Given the description of an element on the screen output the (x, y) to click on. 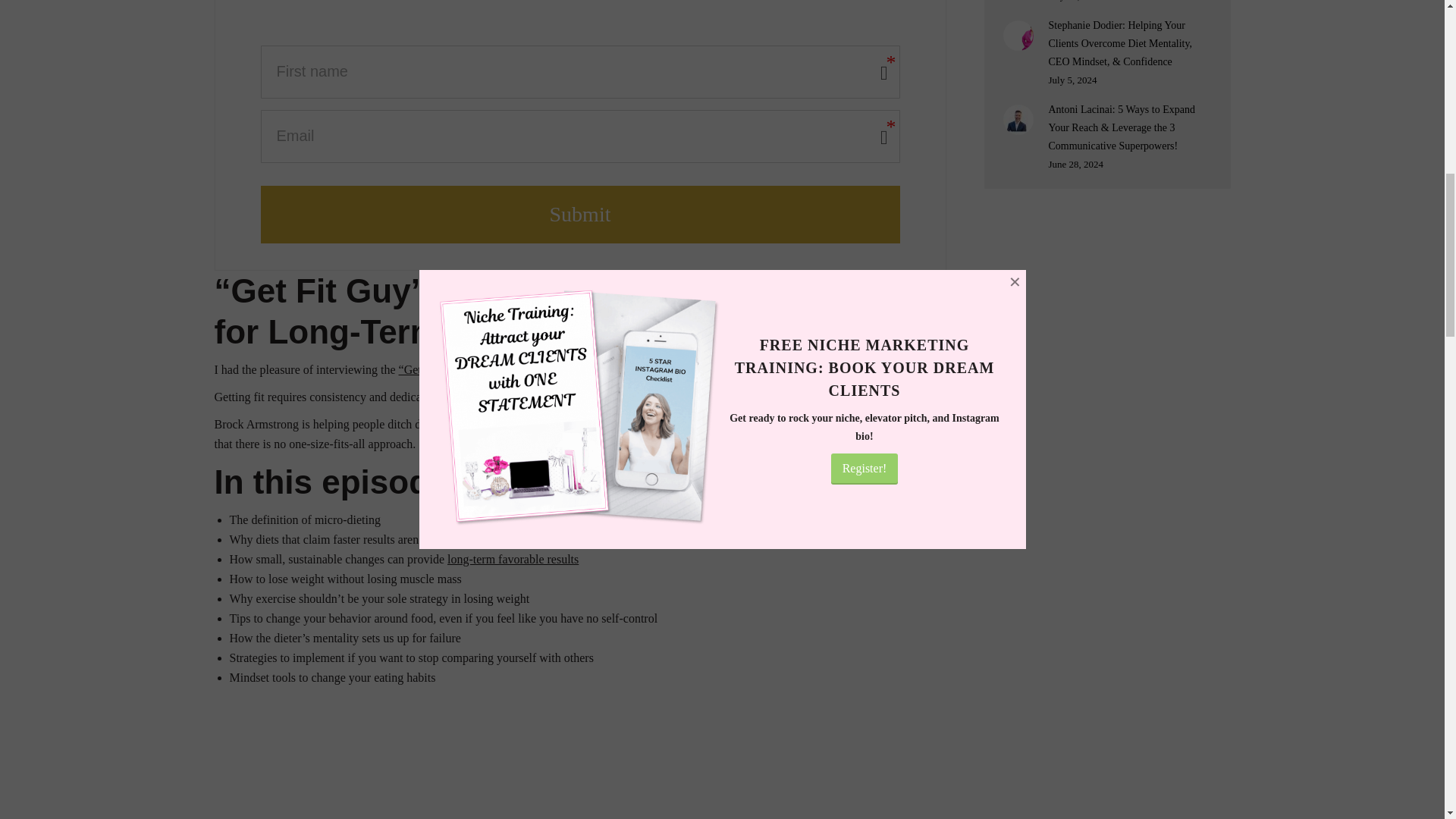
Weigh Less (850, 423)
Submit (579, 214)
Weigh Less (576, 369)
